Given the description of an element on the screen output the (x, y) to click on. 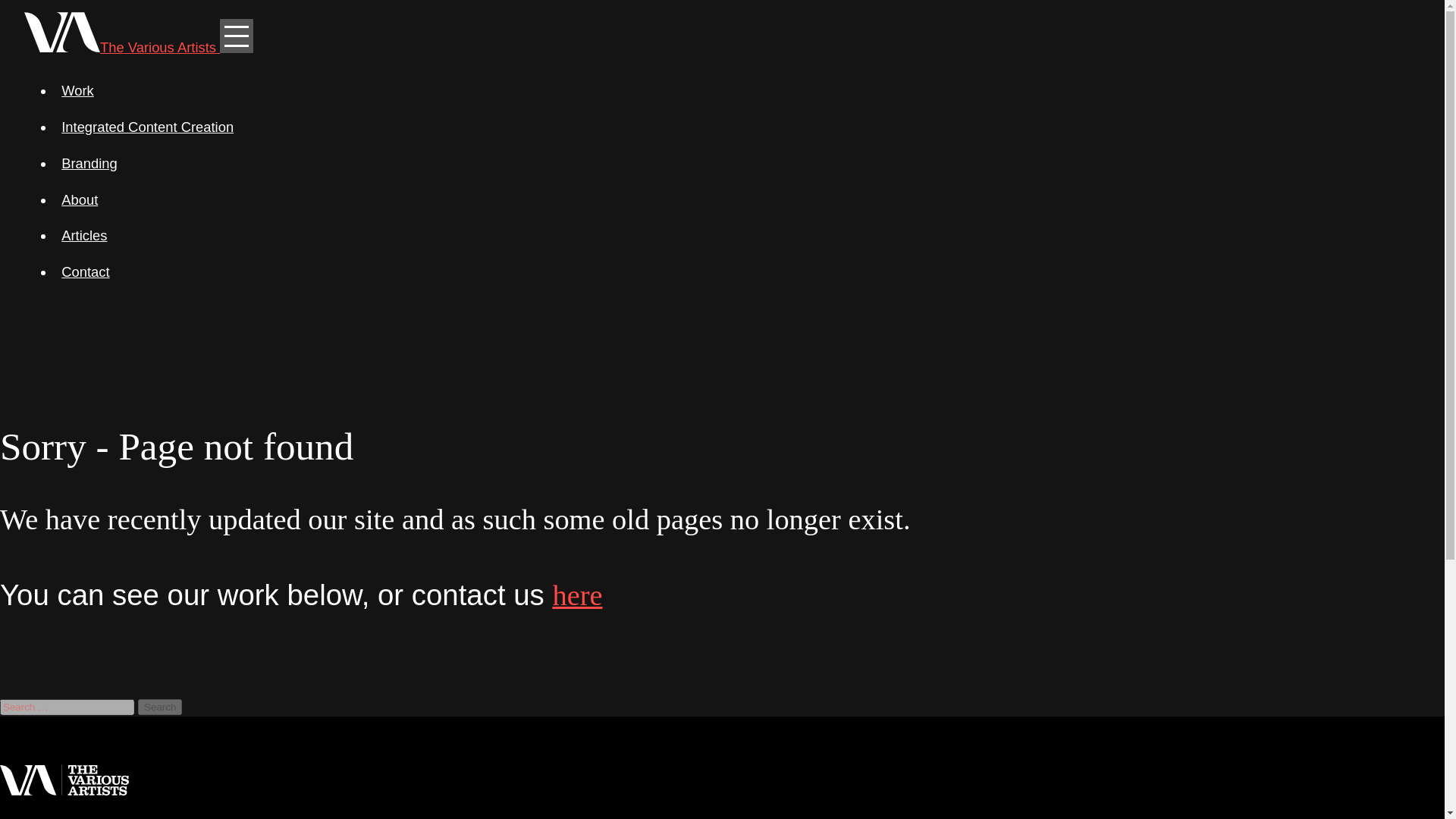
The Various Artists (121, 47)
here (576, 595)
Integrated Content Creation (737, 126)
Branding (737, 163)
Contact (737, 271)
Articles (737, 235)
Search (160, 706)
The Various Artists (121, 47)
Search (160, 706)
Search (160, 706)
